Given the description of an element on the screen output the (x, y) to click on. 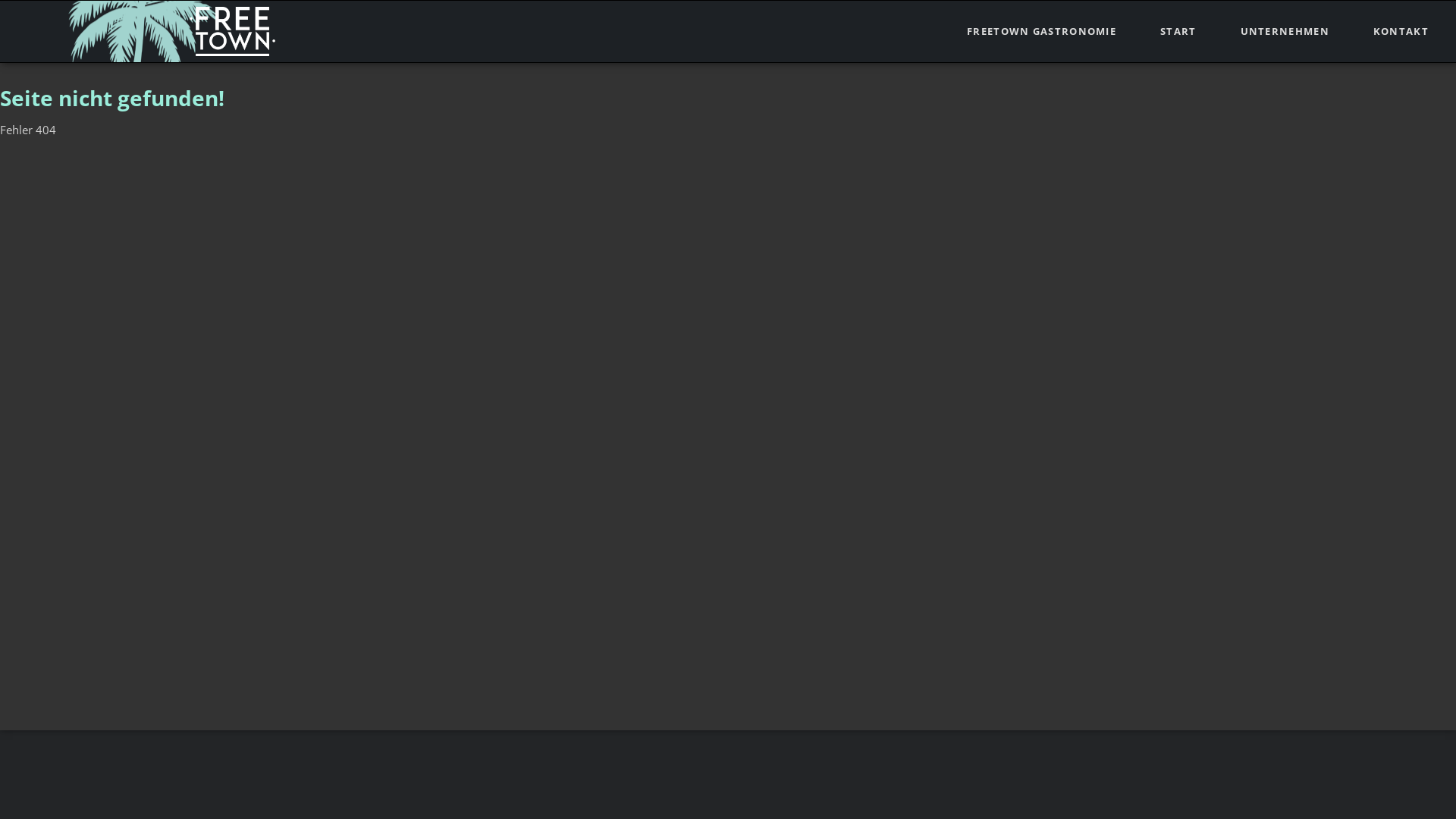
UNTERNEHMEN Element type: text (1284, 31)
START Element type: text (1178, 31)
KONTAKT Element type: text (1400, 31)
FREETOWN GASTRONOMIE Element type: text (1041, 31)
